Given the description of an element on the screen output the (x, y) to click on. 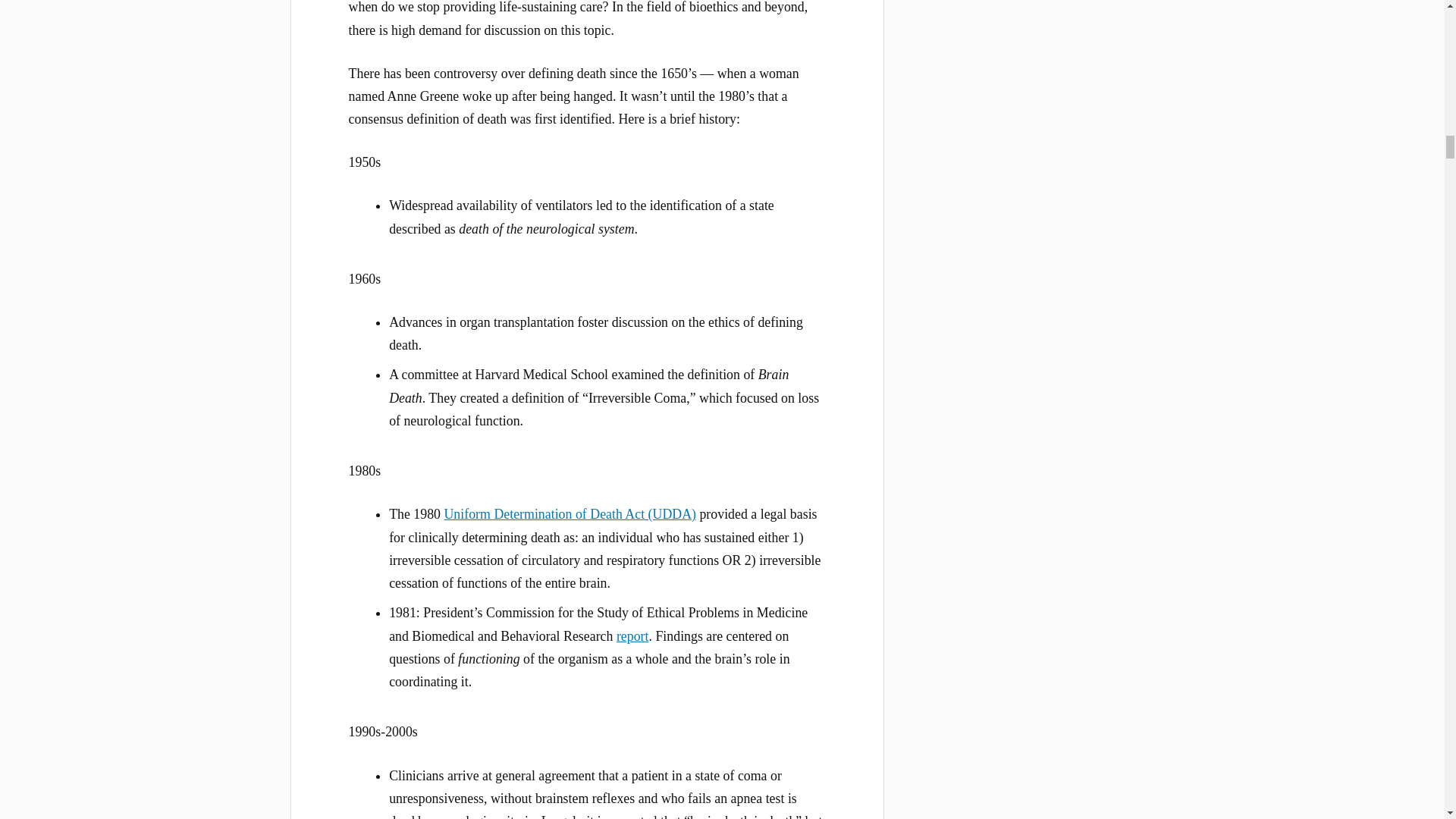
report (632, 635)
